Given the description of an element on the screen output the (x, y) to click on. 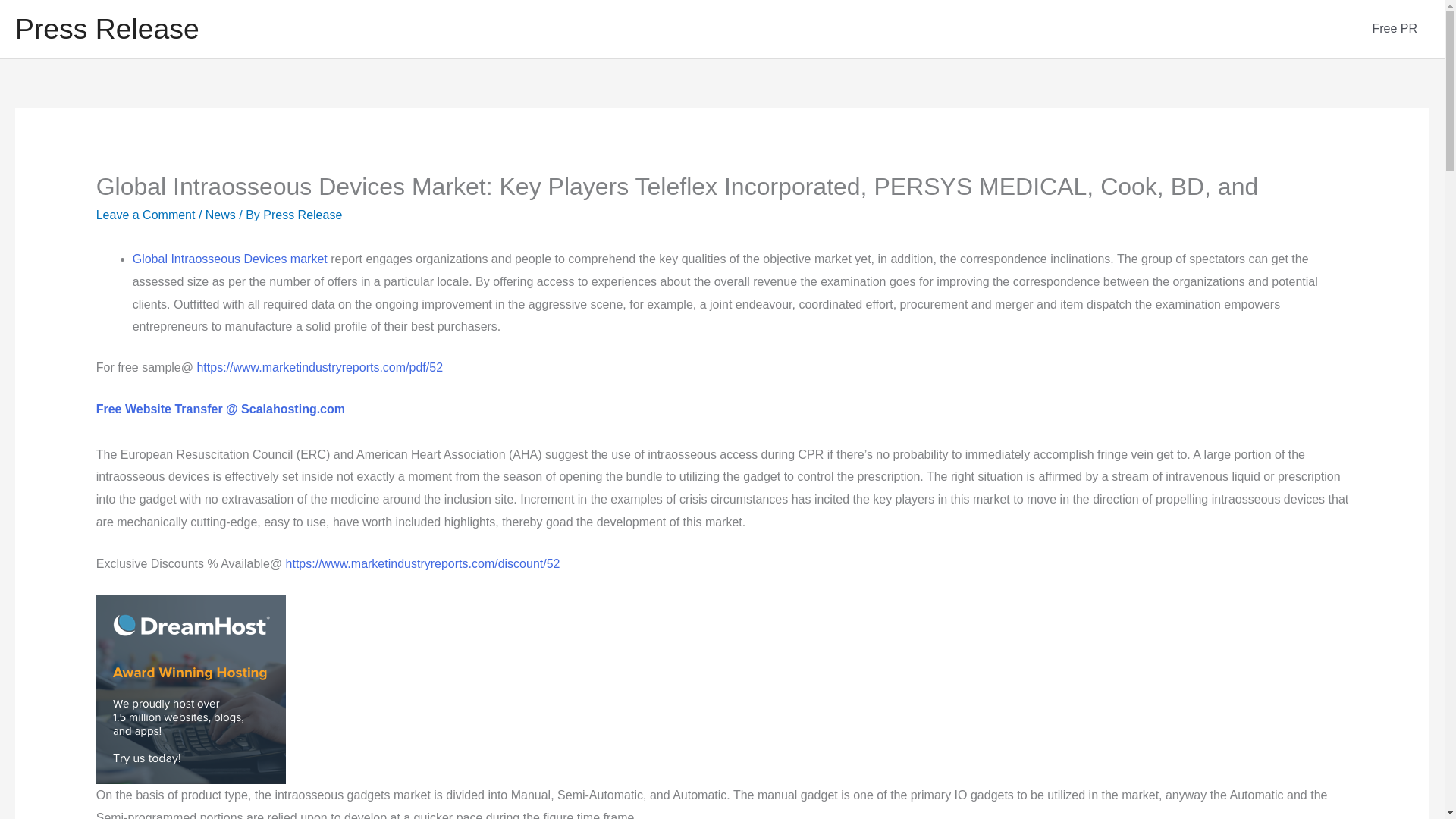
Global Intraosseous Devices market (229, 258)
Press Release (106, 29)
View all posts by Press Release (302, 214)
News (220, 214)
Leave a Comment (145, 214)
Free PR (1394, 29)
Press Release (302, 214)
